Given the description of an element on the screen output the (x, y) to click on. 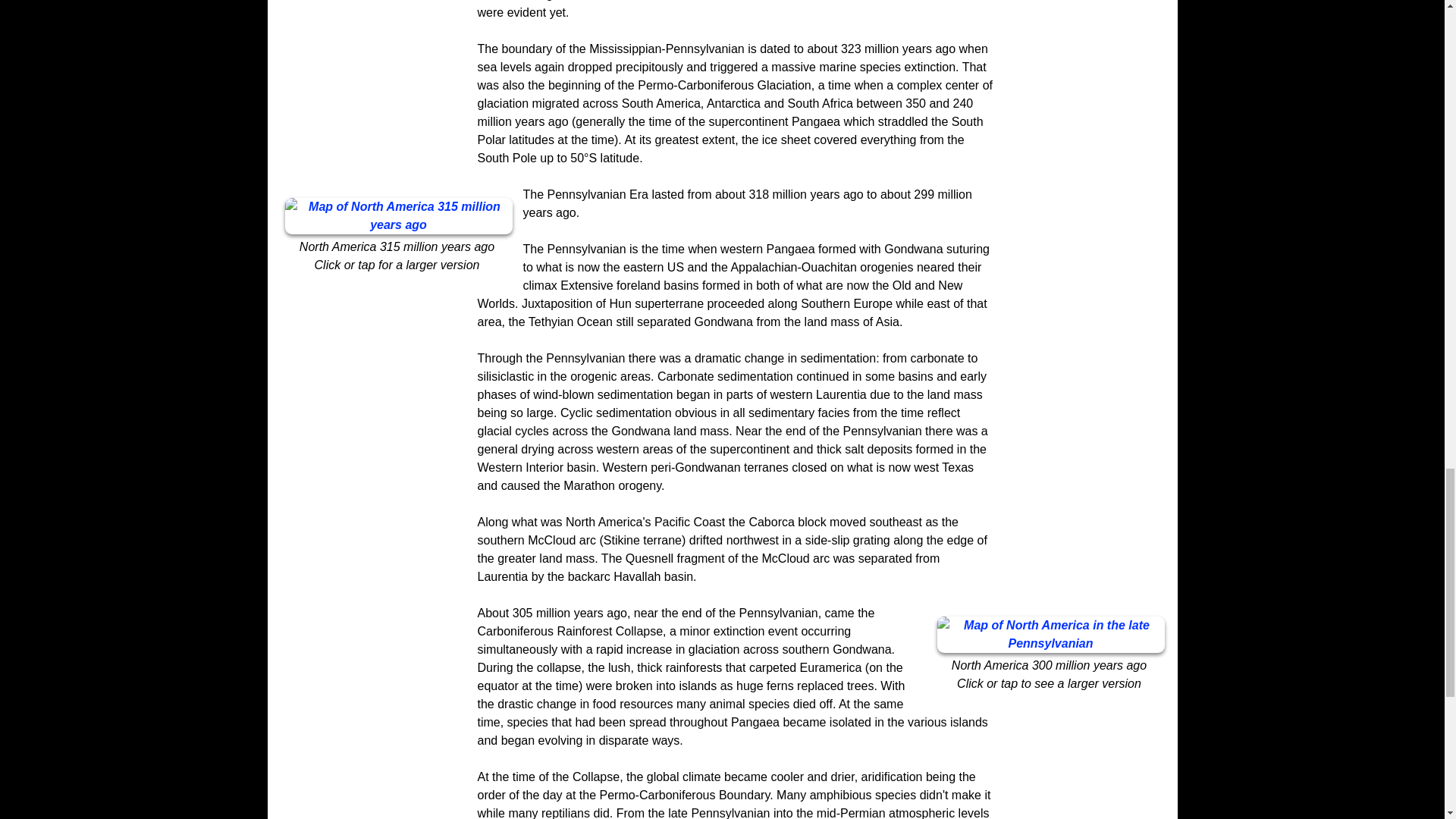
click or tap for a larger verison (398, 216)
click or tap to see a larger version (1050, 634)
